Given the description of an element on the screen output the (x, y) to click on. 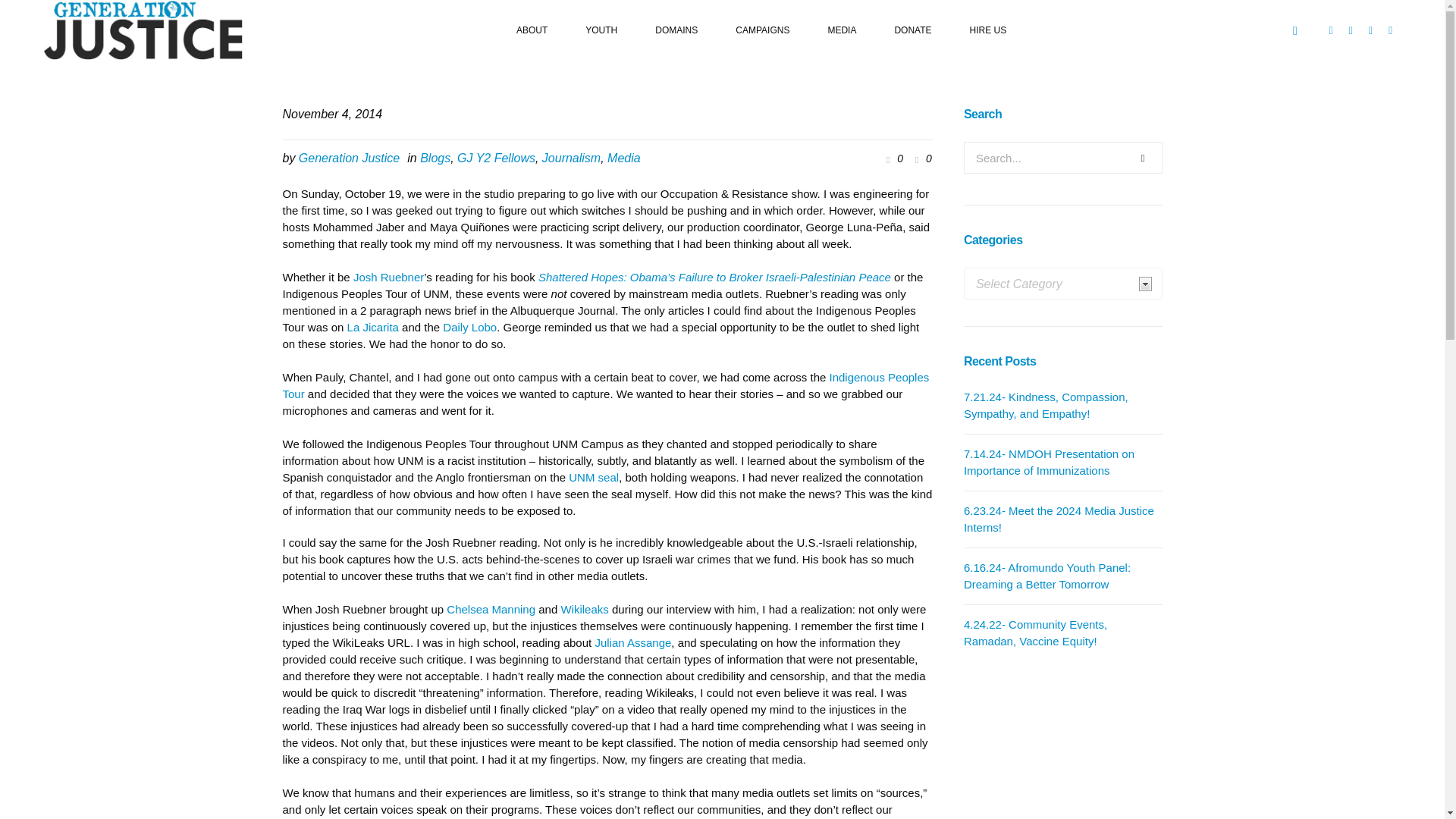
YOUTH (601, 29)
MEDIA (841, 29)
Posts by Generation Justice (348, 157)
Twitter (1350, 30)
youtube (1390, 30)
November 4, 2014 (331, 114)
Instagram (1370, 30)
DOMAINS (676, 29)
Comment on Molding the Mediascape (921, 158)
ABOUT (531, 29)
CAMPAIGNS (762, 29)
Facebook (1330, 30)
